Given the description of an element on the screen output the (x, y) to click on. 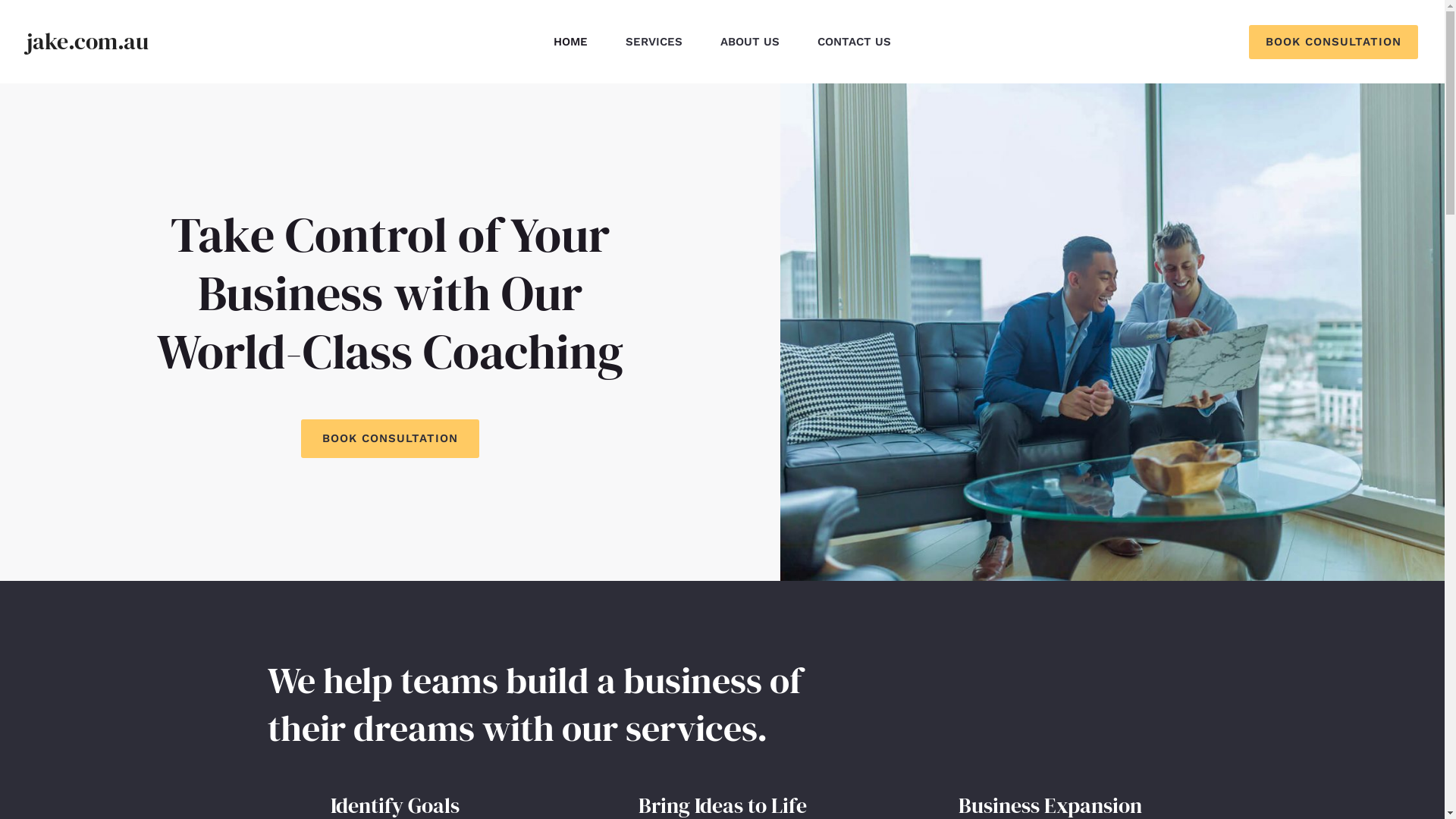
SERVICES Element type: text (653, 41)
CONTACT US Element type: text (854, 41)
HOME Element type: text (570, 41)
ABOUT US Element type: text (749, 41)
BOOK CONSULTATION Element type: text (1333, 41)
BOOK CONSULTATION Element type: text (390, 438)
jake.com.au Element type: text (87, 40)
